Given the description of an element on the screen output the (x, y) to click on. 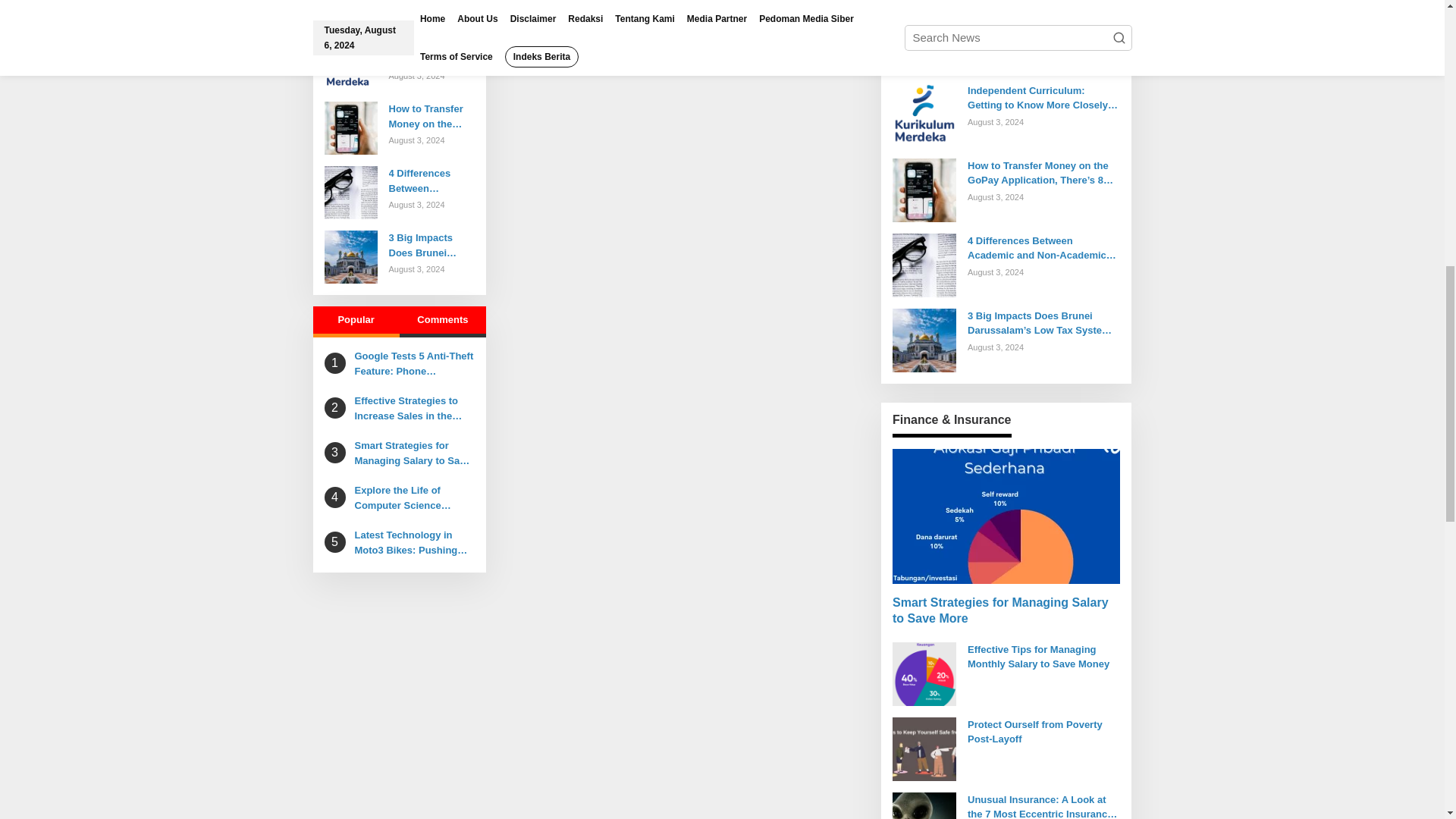
Safe Ways to Avoid Danger While Driving (400, 3)
Comments (442, 321)
4 Differences Between Academic and Non-Academic Texts (431, 180)
Effective Strategies to Increase Sales in the Food Business (415, 408)
Popular (355, 321)
Permalink to: Safe Ways to Avoid Danger While Driving (400, 3)
Smart Strategies for Managing Salary to Save More (415, 452)
